Given the description of an element on the screen output the (x, y) to click on. 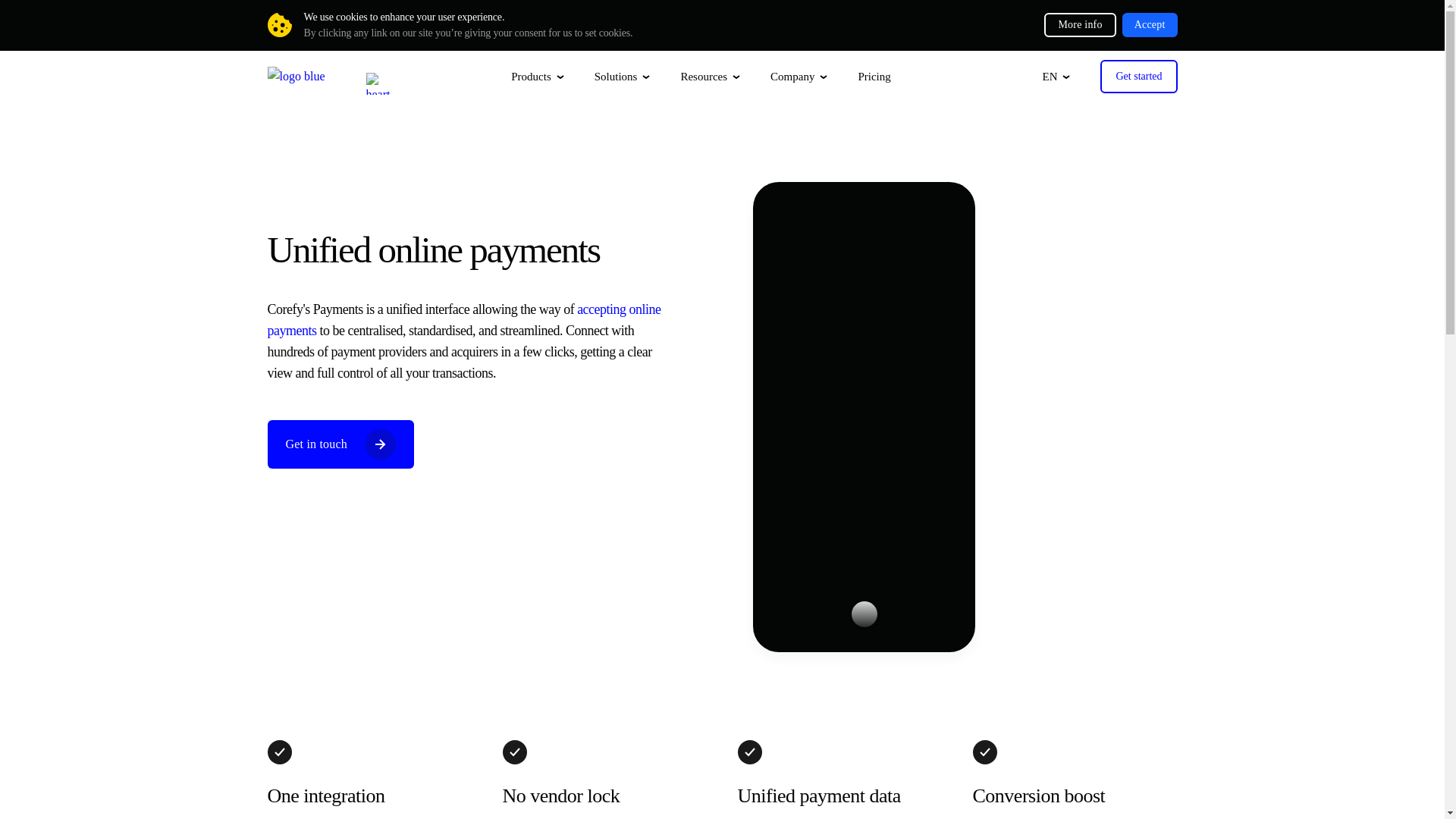
Accept (1149, 24)
More info (1079, 24)
